Given the description of an element on the screen output the (x, y) to click on. 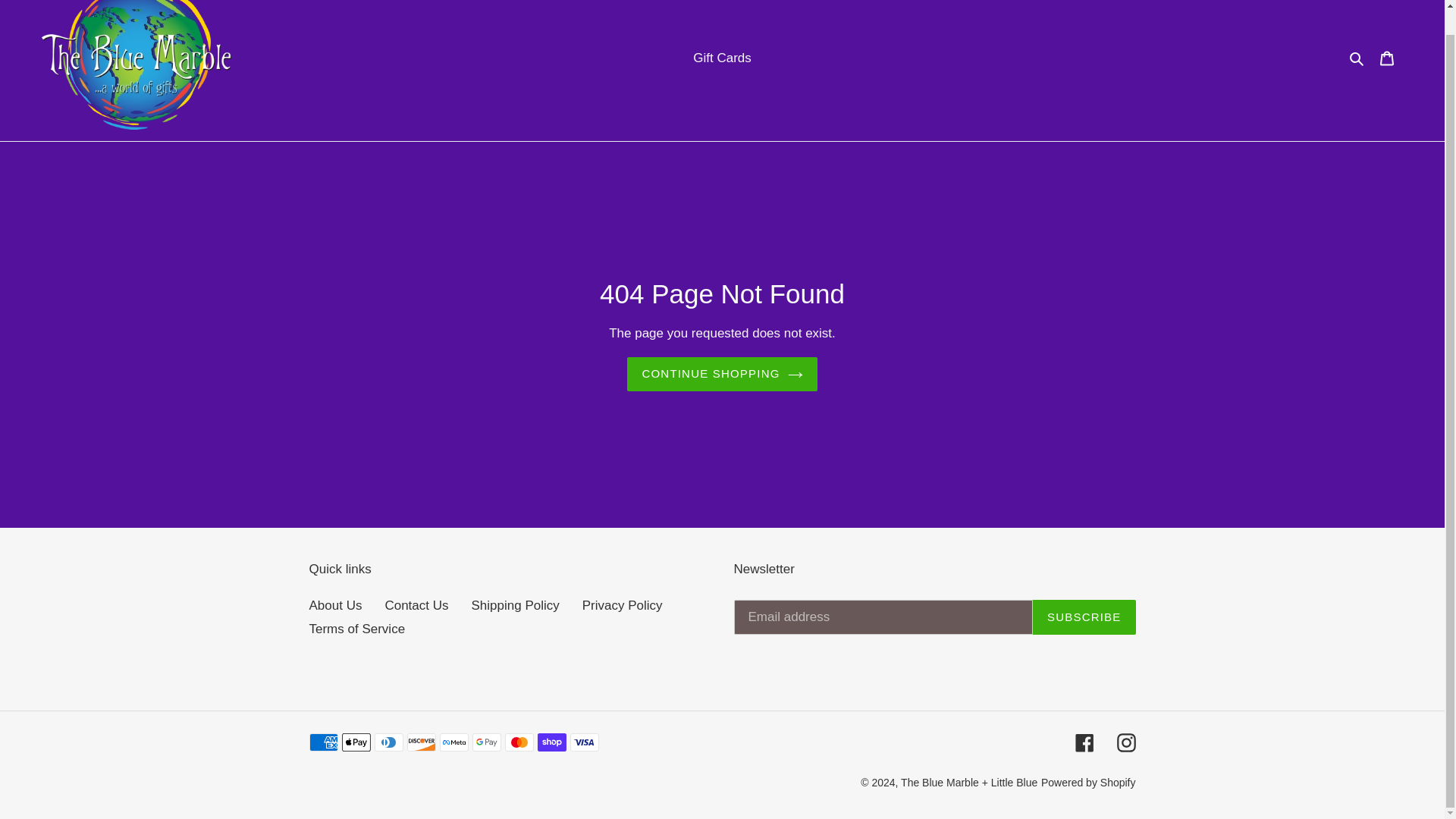
Powered by Shopify (1088, 782)
Facebook (1084, 742)
SUBSCRIBE (1083, 616)
CONTINUE SHOPPING (721, 374)
About Us (335, 605)
Cart (1387, 58)
Instagram (1125, 742)
Contact Us (416, 605)
Gift Cards (721, 57)
Search (1357, 57)
